Given the description of an element on the screen output the (x, y) to click on. 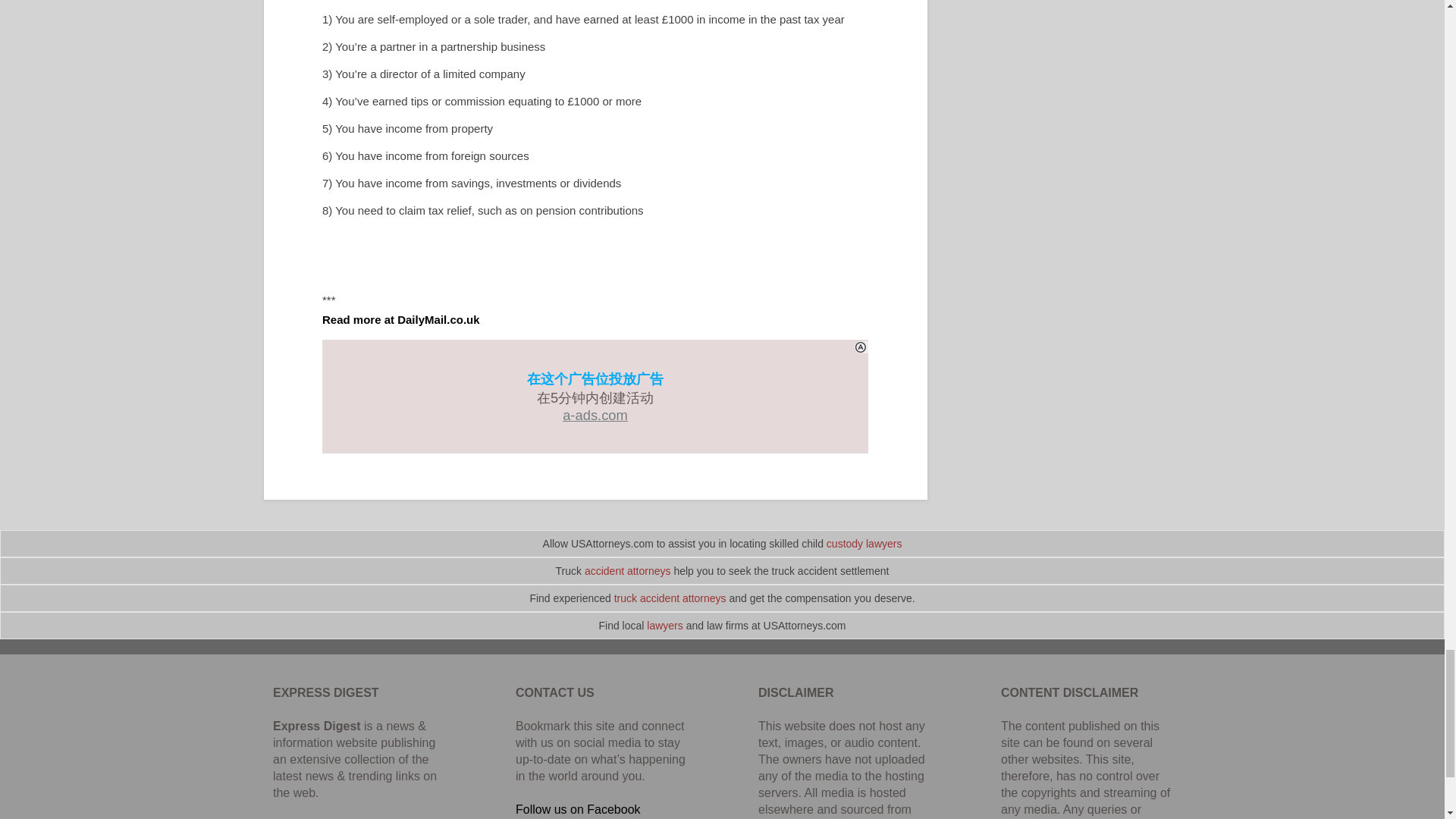
Read more at DailyMail.co.uk (400, 318)
custody lawyers (864, 543)
lawyers (664, 625)
truck accident attorneys (670, 598)
accident attorneys (628, 571)
